Given the description of an element on the screen output the (x, y) to click on. 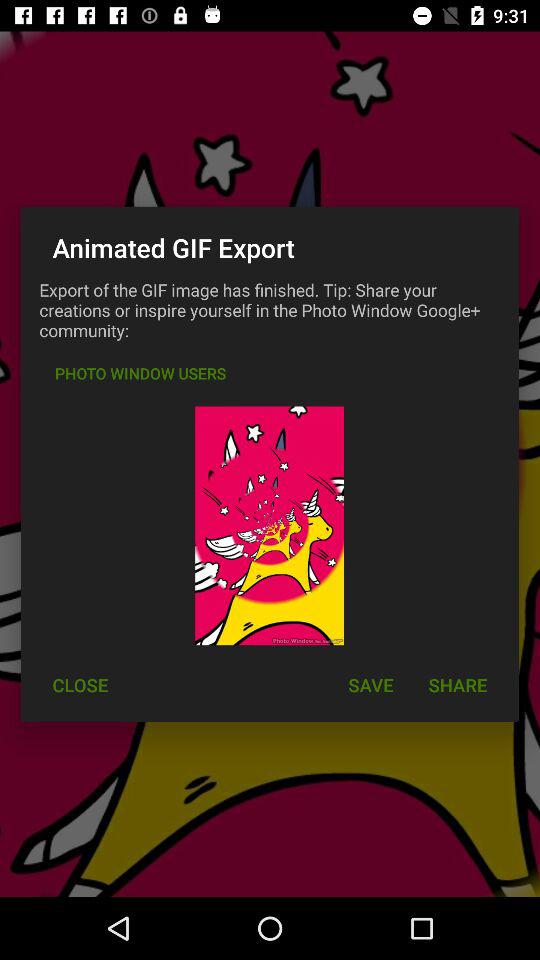
tap the item next to the share icon (370, 684)
